Given the description of an element on the screen output the (x, y) to click on. 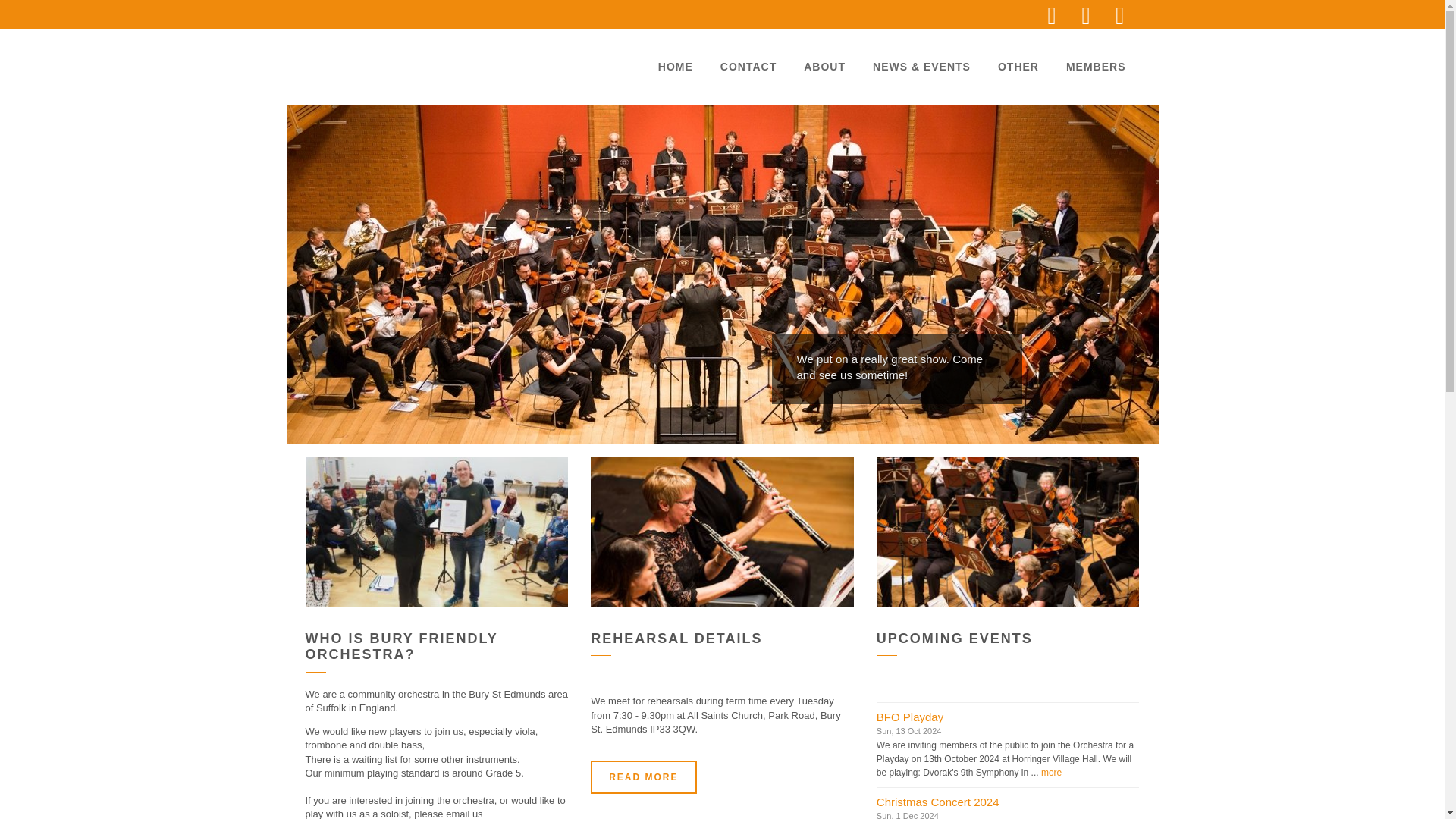
ABOUT (824, 66)
MEMBERS (1096, 66)
OTHER (1018, 66)
database (722, 531)
CONTACT (748, 66)
group1 (1008, 531)
